Given the description of an element on the screen output the (x, y) to click on. 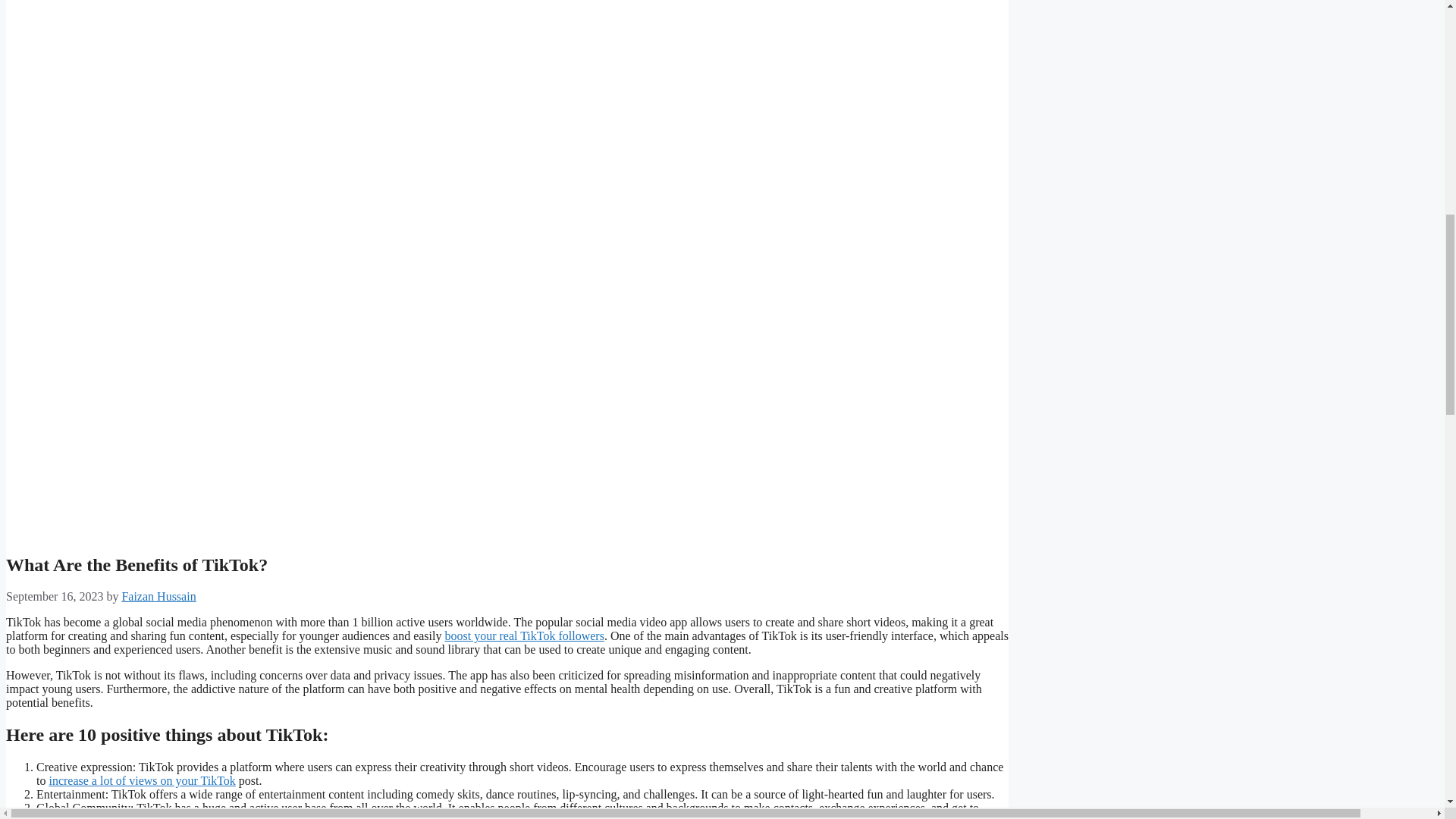
increase a lot of views on your TikTok (141, 780)
View all posts by Faizan Hussain (157, 595)
boost your real TikTok followers (524, 635)
Faizan Hussain (157, 595)
